Given the description of an element on the screen output the (x, y) to click on. 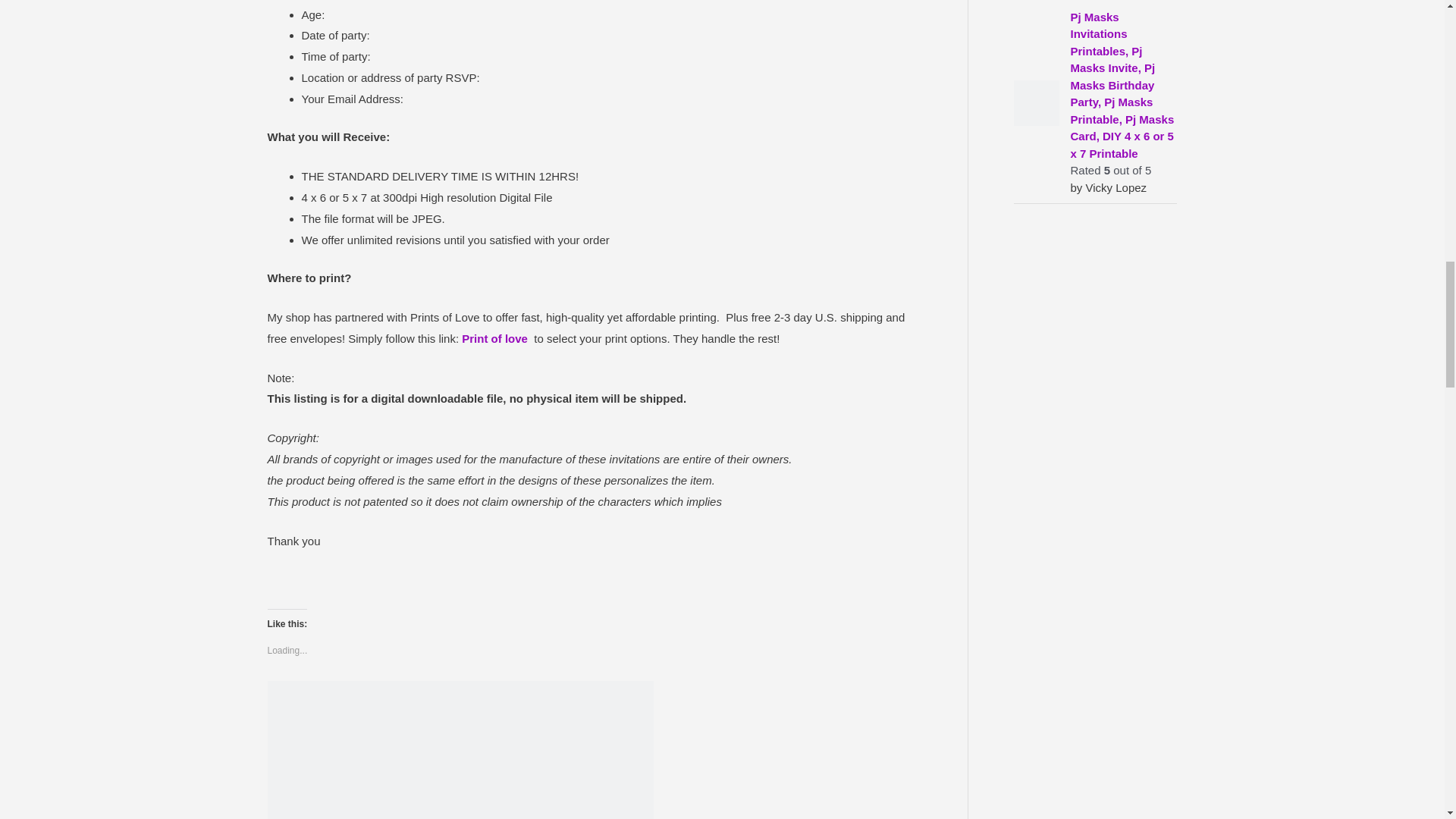
Print of love (494, 338)
